Given the description of an element on the screen output the (x, y) to click on. 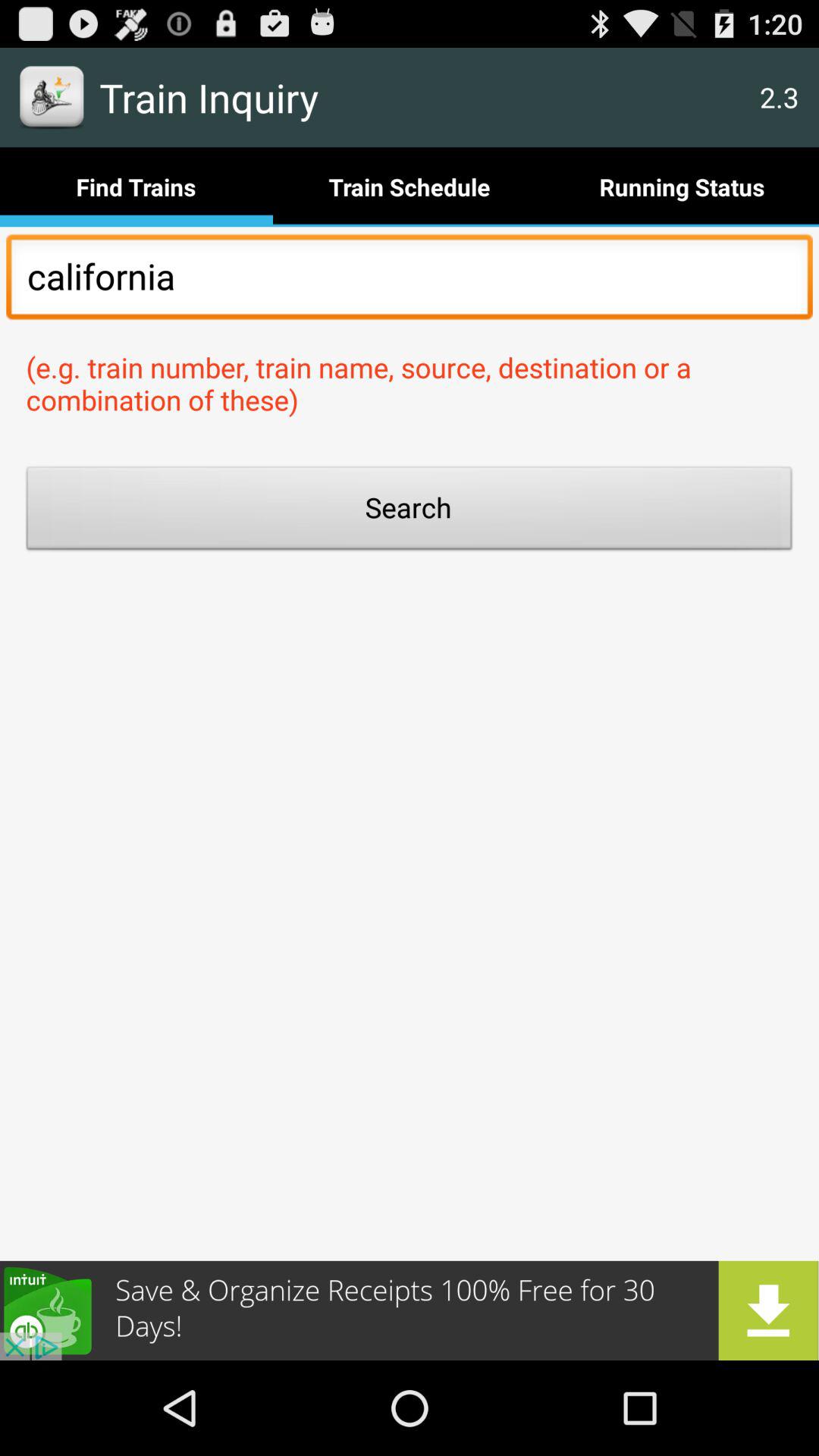
advertisement (409, 1310)
